Given the description of an element on the screen output the (x, y) to click on. 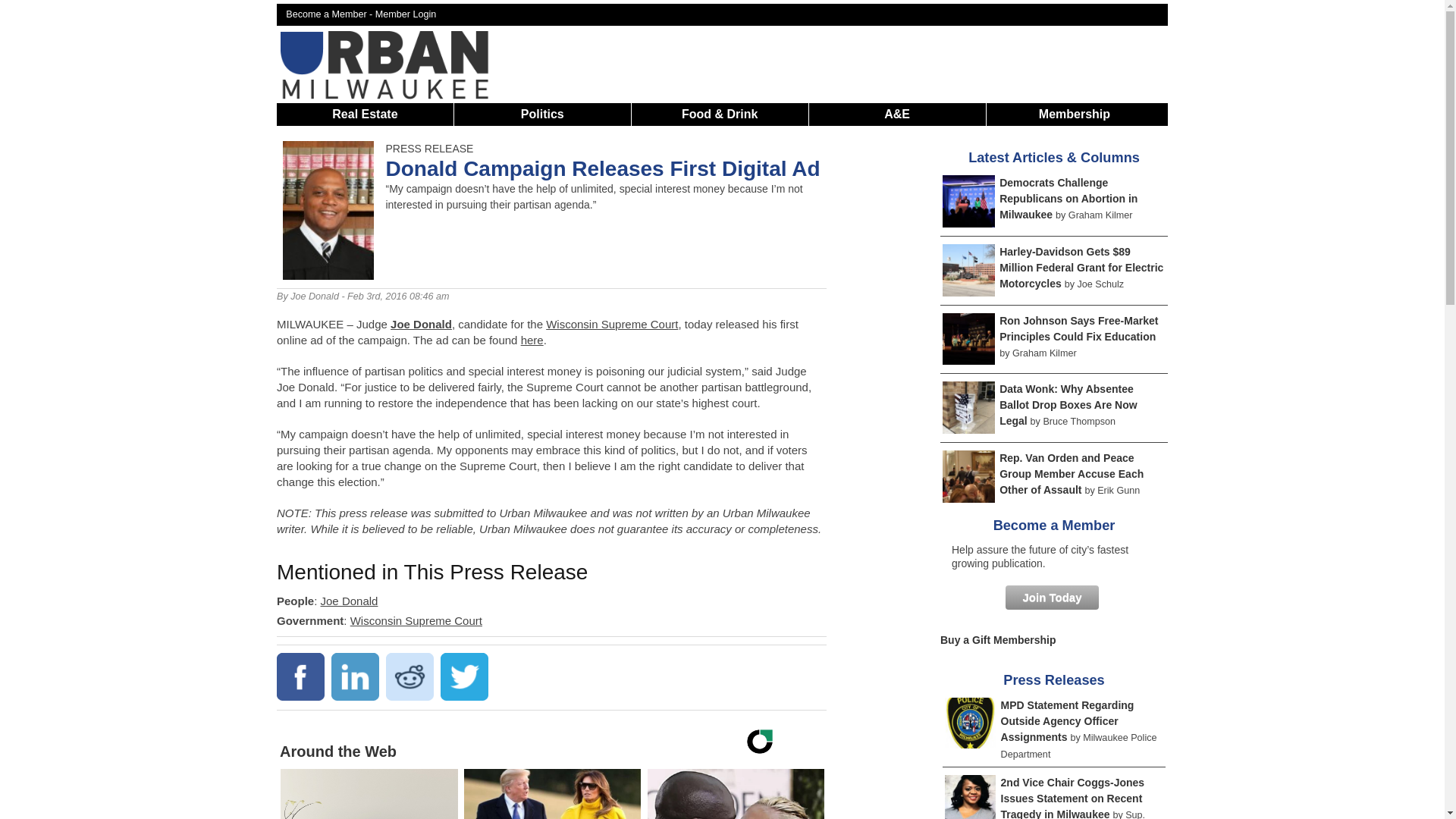
Posts by Joe Donald (314, 296)
Joe Donald (349, 600)
Become a Member - (330, 14)
Joe Donald (314, 296)
Wisconsin Supreme Court (415, 620)
Real Estate (364, 113)
10 Melania Facts That Will Stun You (552, 794)
Member Login (552, 794)
Wisconsin Supreme Court (368, 794)
Politics (405, 14)
Joe Donald (612, 323)
Tell Us Your Favorite Sites (542, 113)
Membership (420, 323)
